Given the description of an element on the screen output the (x, y) to click on. 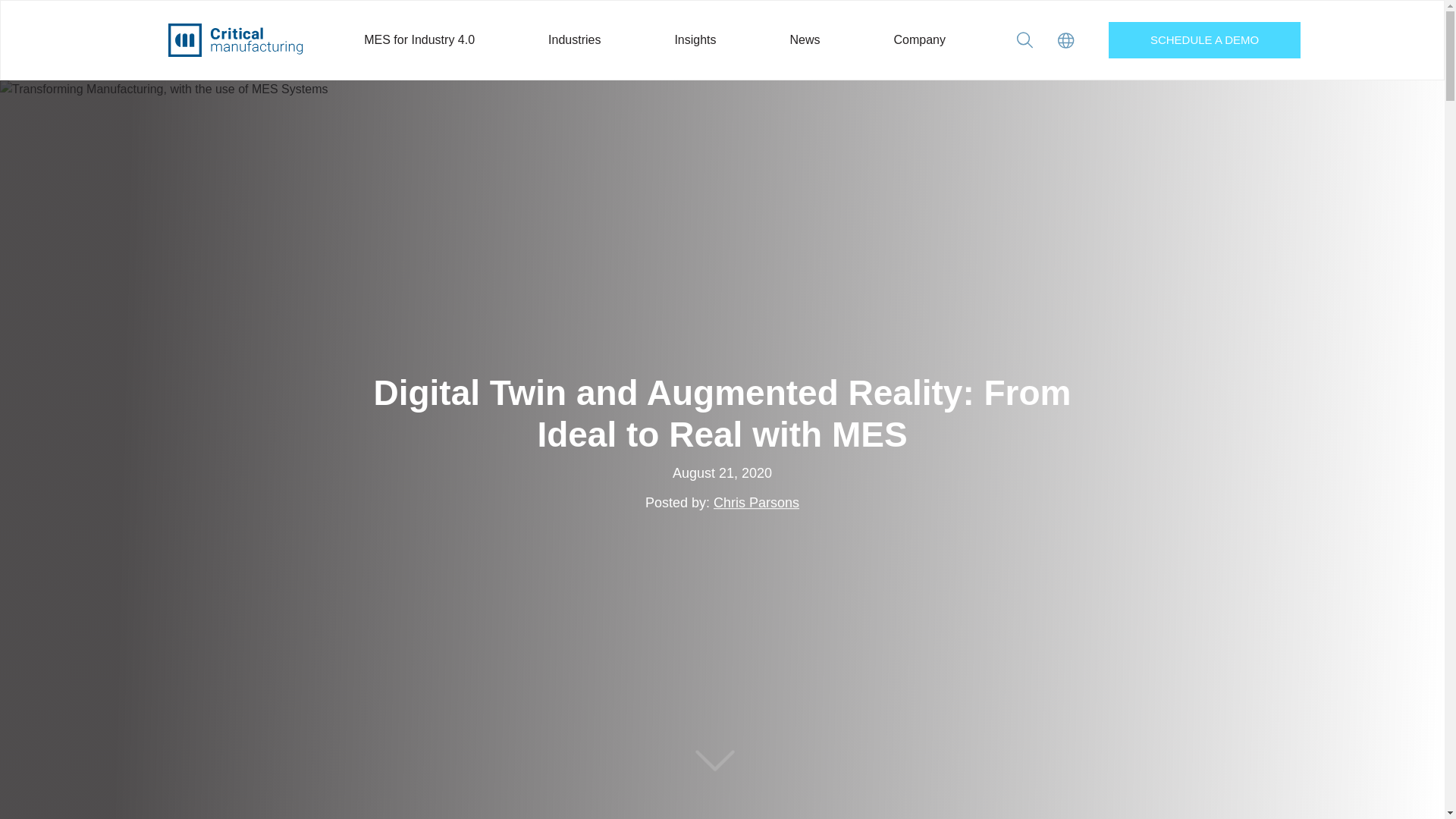
Insights (694, 39)
Insights (694, 39)
Company (919, 39)
News (804, 39)
MES for Industry 4.0 (419, 39)
Critical Manufacturing (235, 38)
MES for Industry 4.0 (419, 39)
Industries (574, 39)
Industries (574, 39)
Schedule a demo (1204, 38)
